Given the description of an element on the screen output the (x, y) to click on. 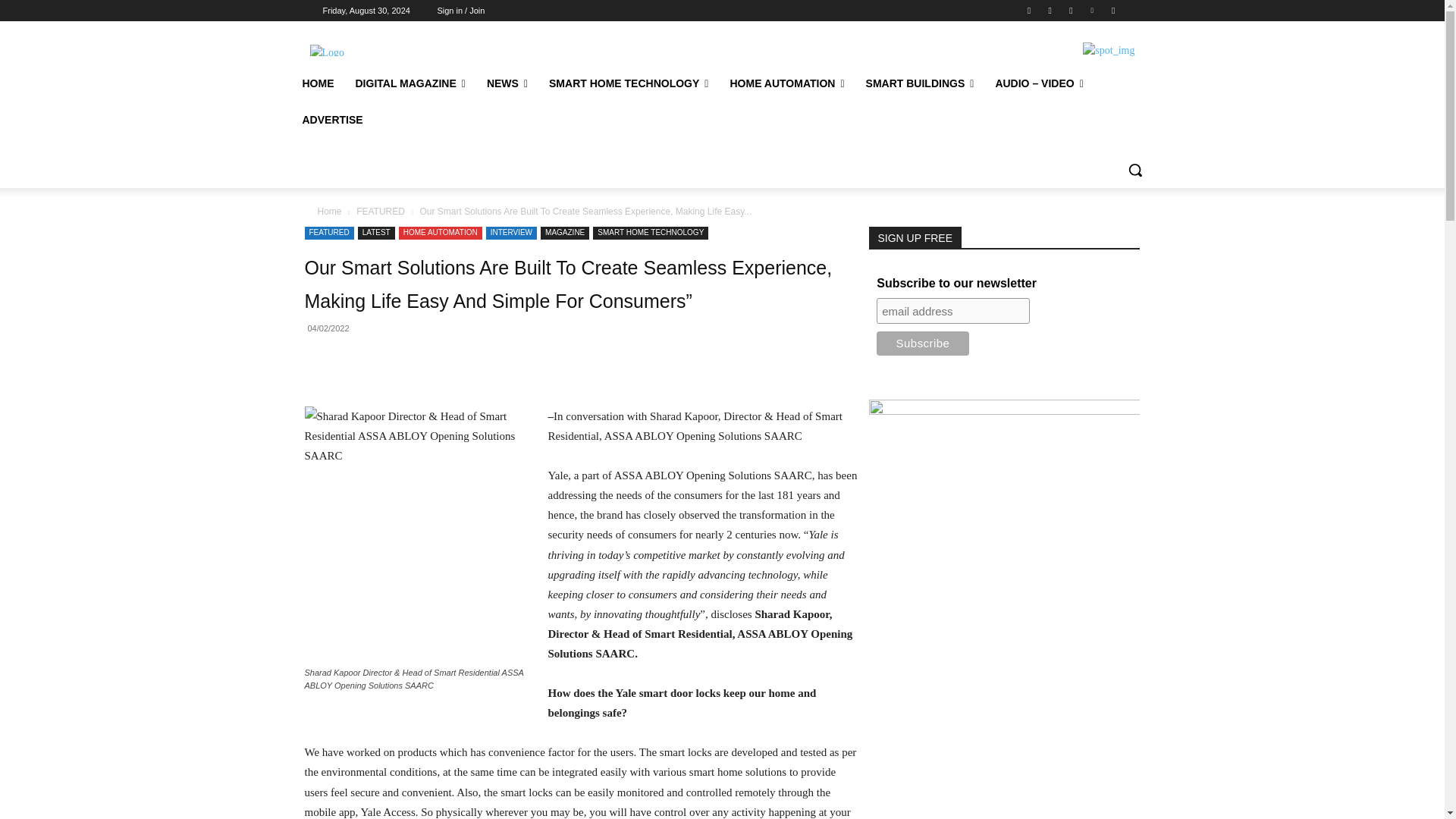
Instagram (1049, 9)
Subscribe (922, 343)
Vimeo (1091, 9)
Twitter (1071, 9)
Youtube (1113, 9)
Facebook (1029, 9)
